Given the description of an element on the screen output the (x, y) to click on. 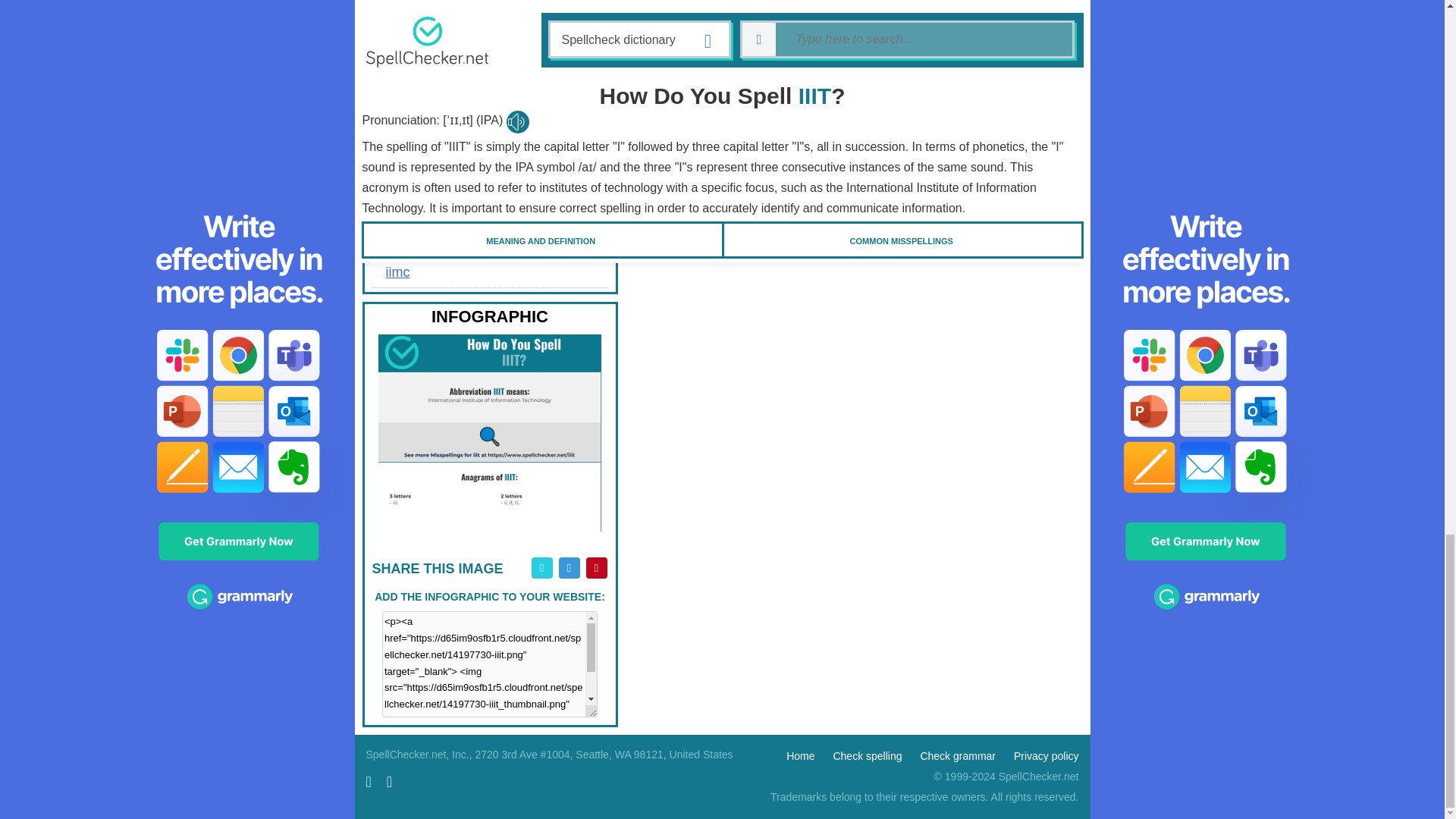
iiird (489, 51)
iimb cdrh (489, 241)
iiie (489, 2)
iiis (489, 83)
iiii (489, 20)
Home (799, 756)
IyIT (660, 305)
iim (489, 209)
iilm (489, 177)
iimc (489, 272)
